Given the description of an element on the screen output the (x, y) to click on. 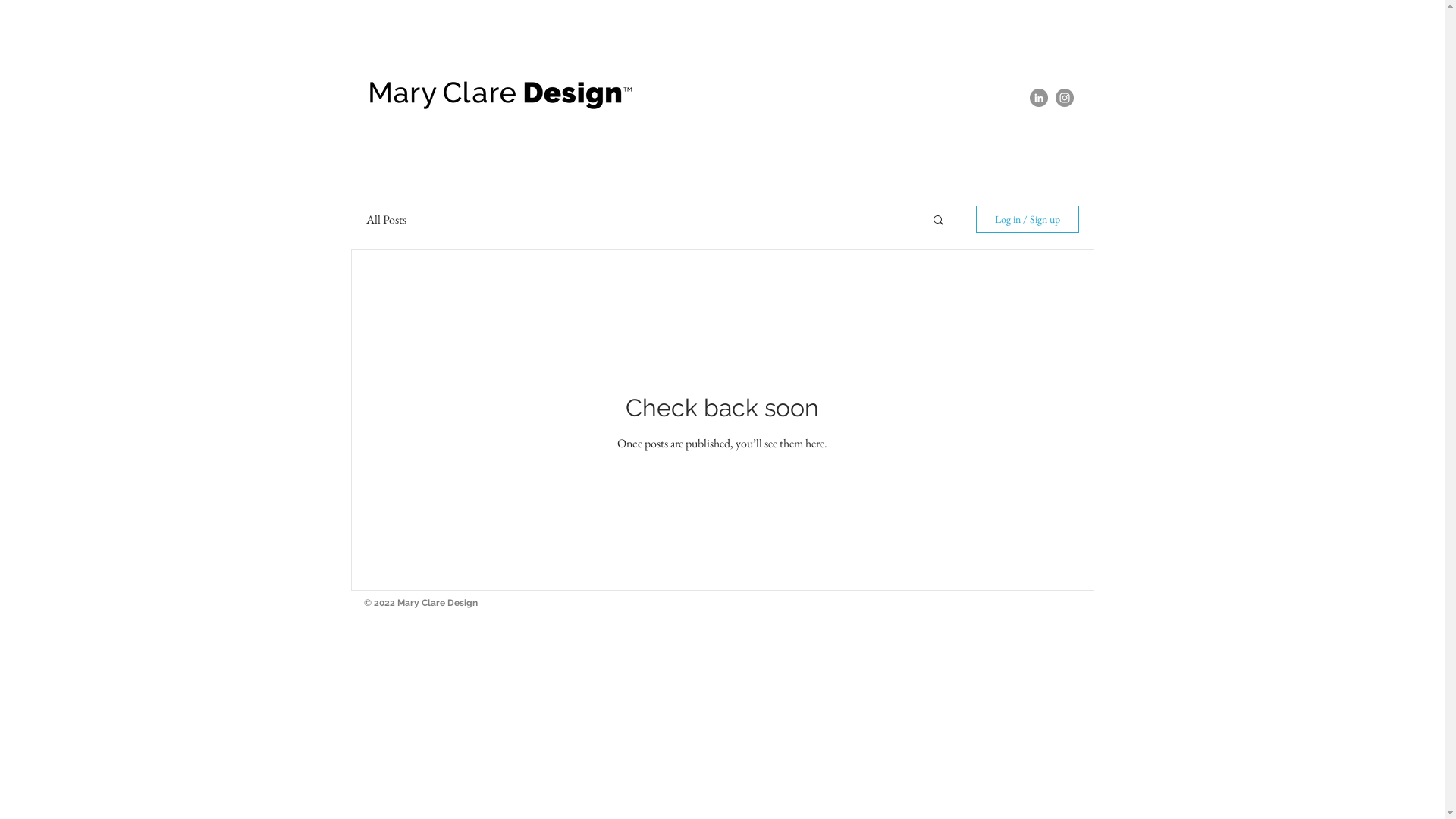
Log in / Sign up Element type: text (1026, 218)
mcd-identity-pos-inline.png Element type: hover (500, 93)
+ Element type: text (1082, 609)
All Posts Element type: text (385, 218)
